Given the description of an element on the screen output the (x, y) to click on. 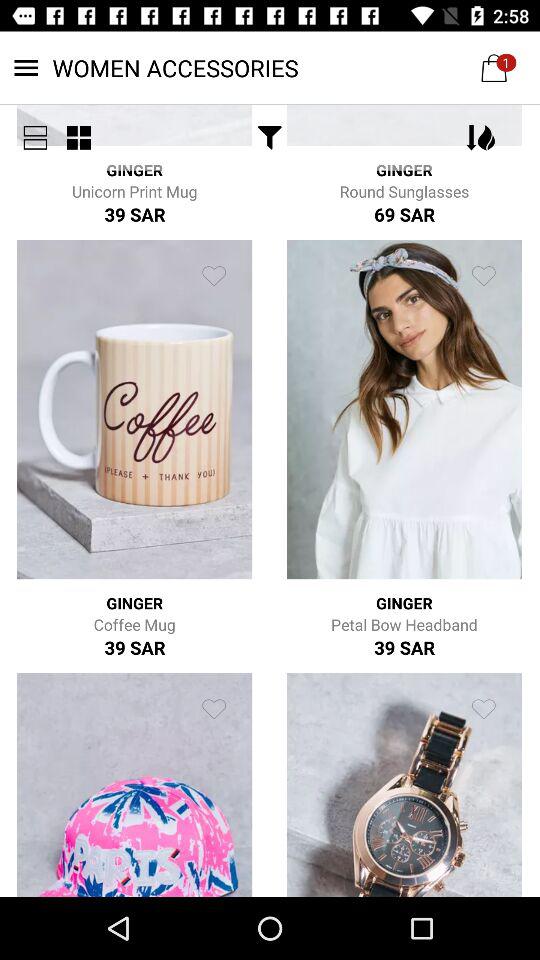
tap icon to the left of women accessories icon (35, 137)
